Given the description of an element on the screen output the (x, y) to click on. 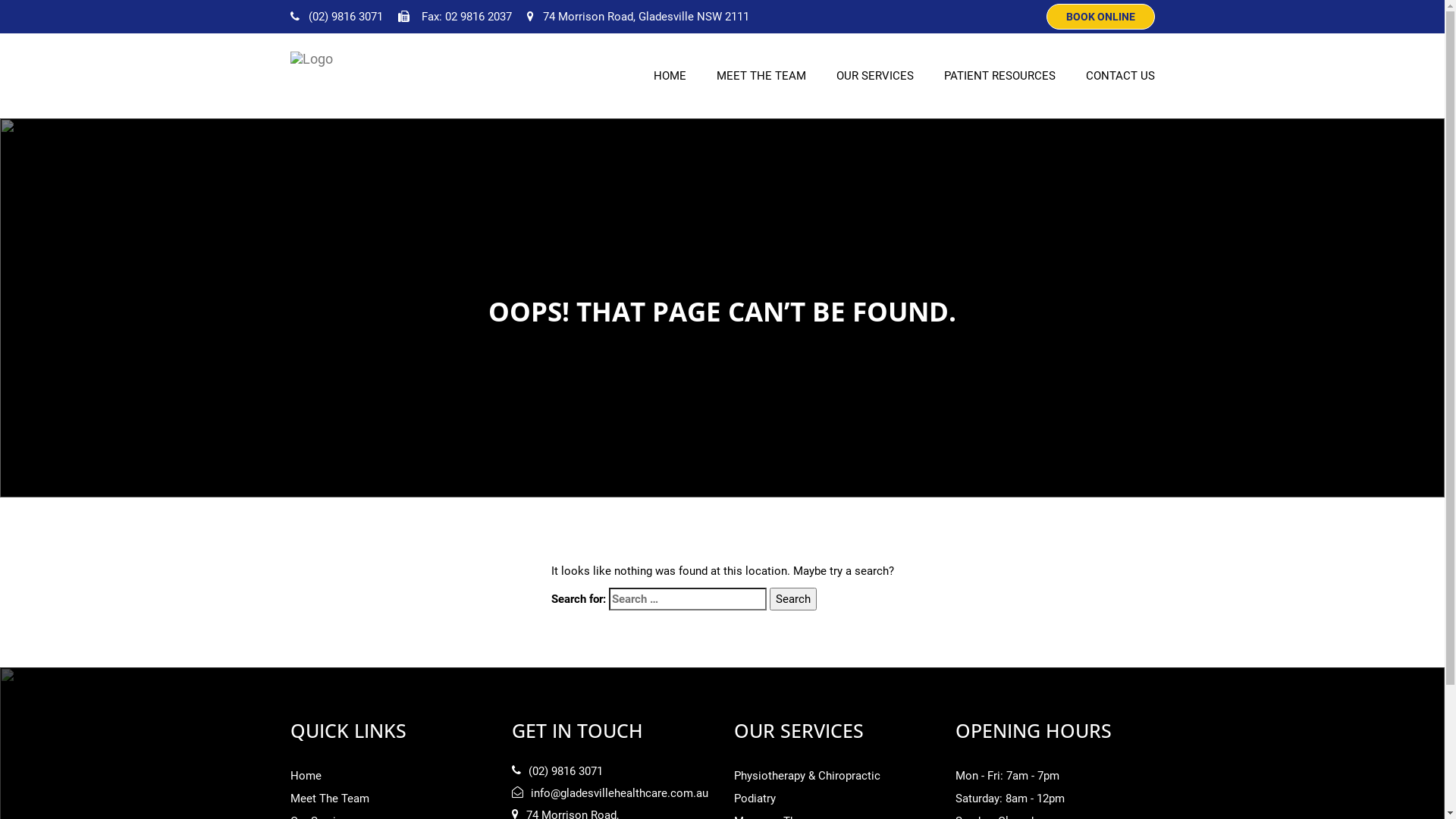
HOME Element type: text (669, 75)
CONTACT US Element type: text (1119, 75)
Physiotherapy & Chiropractic Element type: text (807, 775)
74 Morrison Road, Gladesville NSW 2111 Element type: text (637, 16)
(02) 9816 3071 Element type: text (556, 771)
(02) 9816 3071 Element type: text (335, 16)
Podiatry Element type: text (754, 798)
BOOK ONLINE Element type: text (1100, 16)
Search Element type: text (791, 598)
Fax: 02 9816 2037 Element type: text (454, 16)
Home Element type: text (304, 775)
PATIENT RESOURCES Element type: text (998, 75)
info@gladesvillehealthcare.com.au Element type: text (580, 792)
MEET THE TEAM Element type: text (760, 75)
Meet The Team Element type: text (328, 798)
OUR SERVICES Element type: text (874, 75)
